Given the description of an element on the screen output the (x, y) to click on. 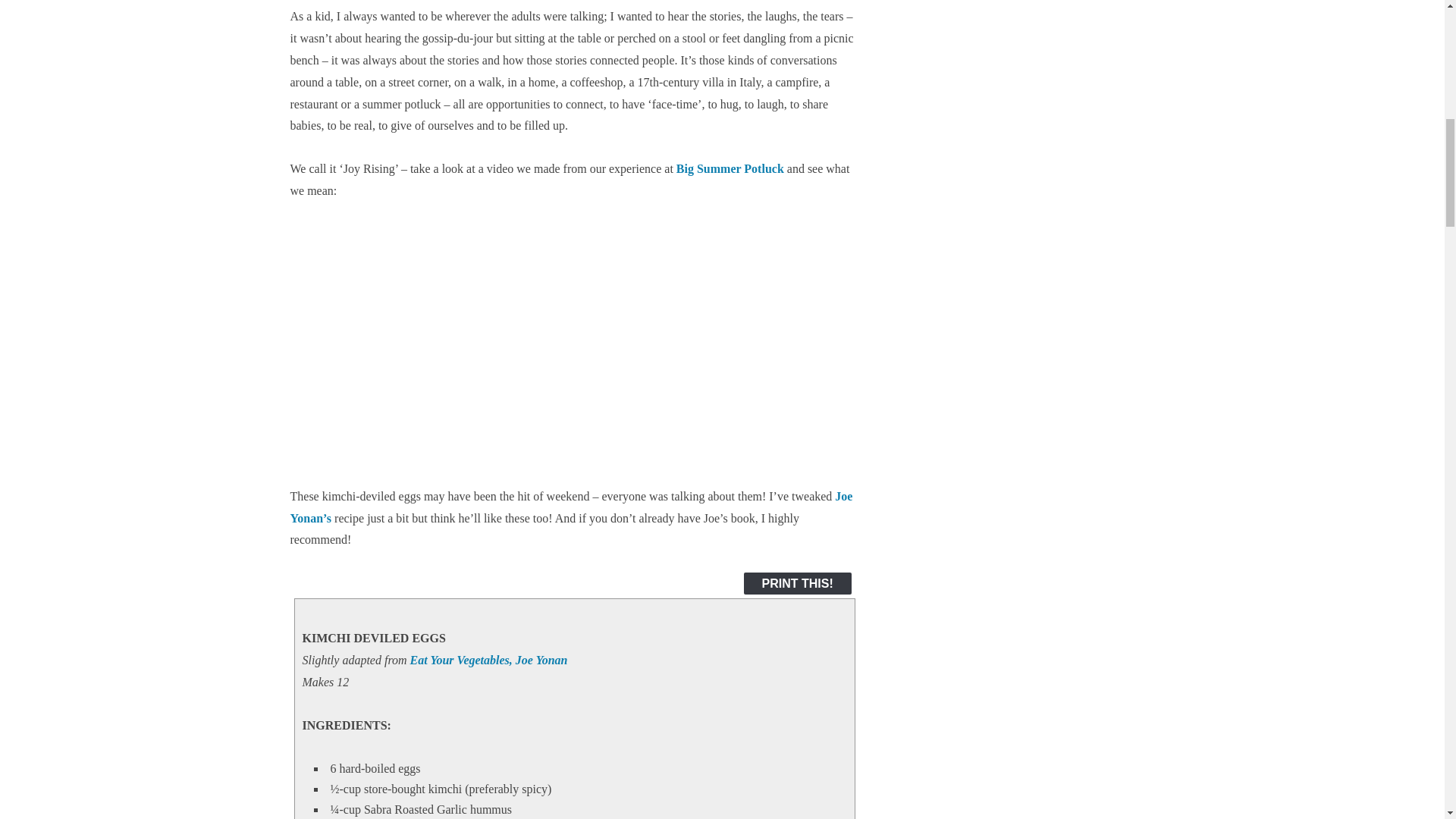
Big Summer Potluck (730, 168)
Eat Your Vegetables, Joe Yonan (488, 659)
Joe Yonan, homepage (570, 506)
The Big Potluck,homepage (730, 168)
    PRINT THIS!     (797, 583)
